Given the description of an element on the screen output the (x, y) to click on. 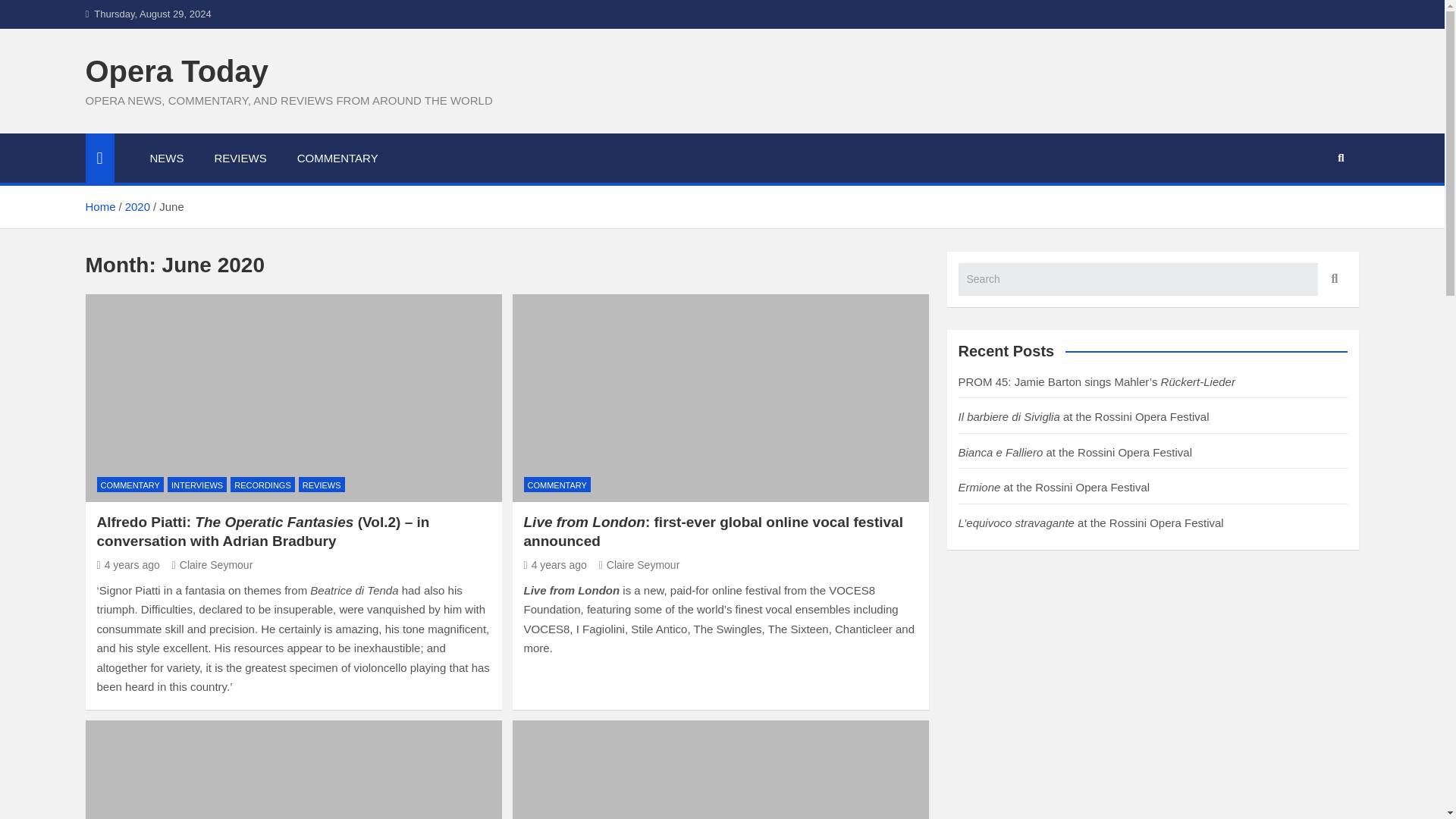
4 years ago (128, 564)
Claire Seymour (638, 564)
2020 (137, 205)
Home (99, 205)
REVIEWS (239, 158)
INTERVIEWS (197, 484)
REVIEWS (321, 484)
COMMENTARY (130, 484)
COMMENTARY (555, 484)
